Given the description of an element on the screen output the (x, y) to click on. 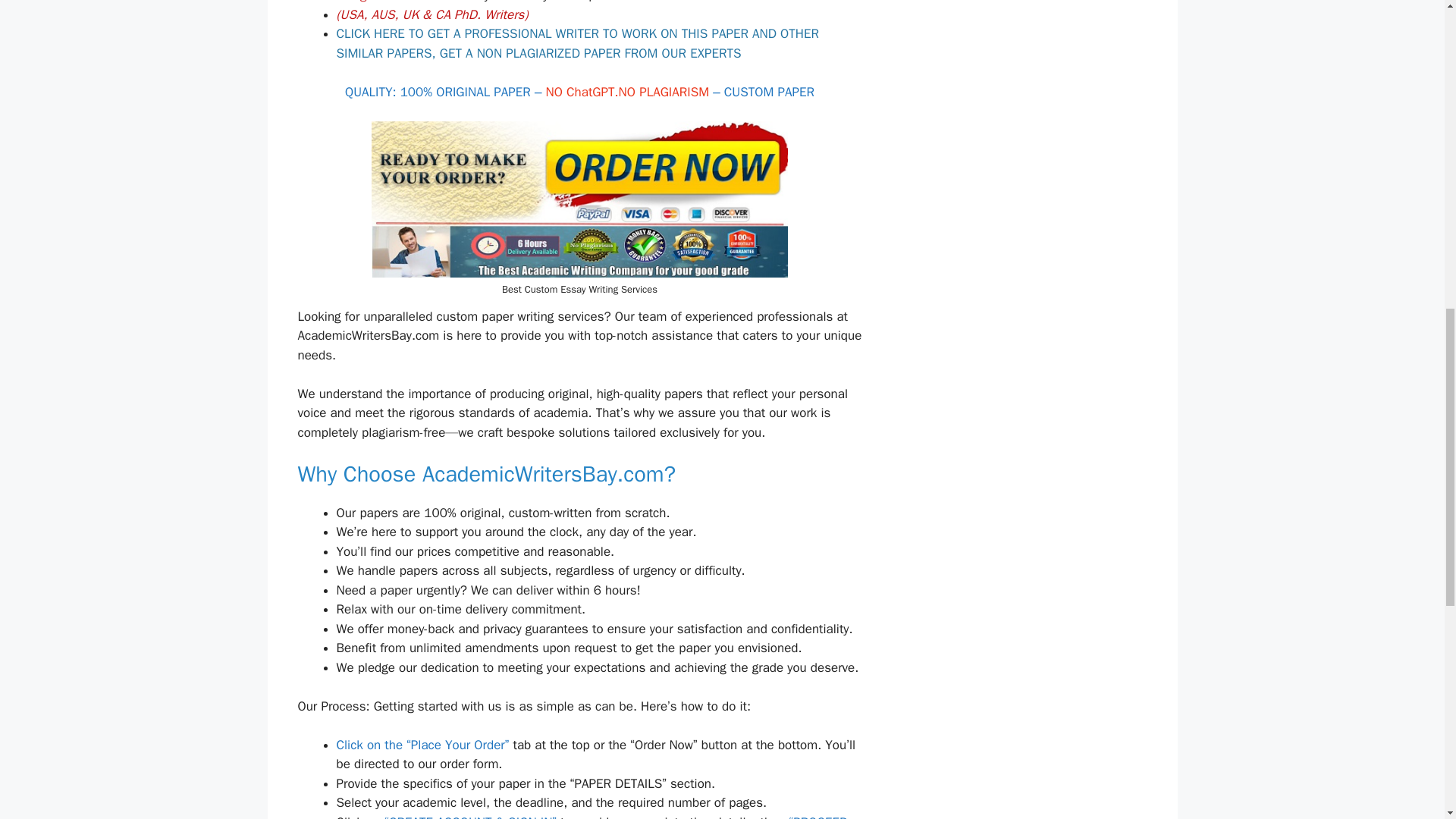
CUSTOM PAPER (768, 91)
NO ChatGPT.NO PLAGIARISM (628, 91)
